Given the description of an element on the screen output the (x, y) to click on. 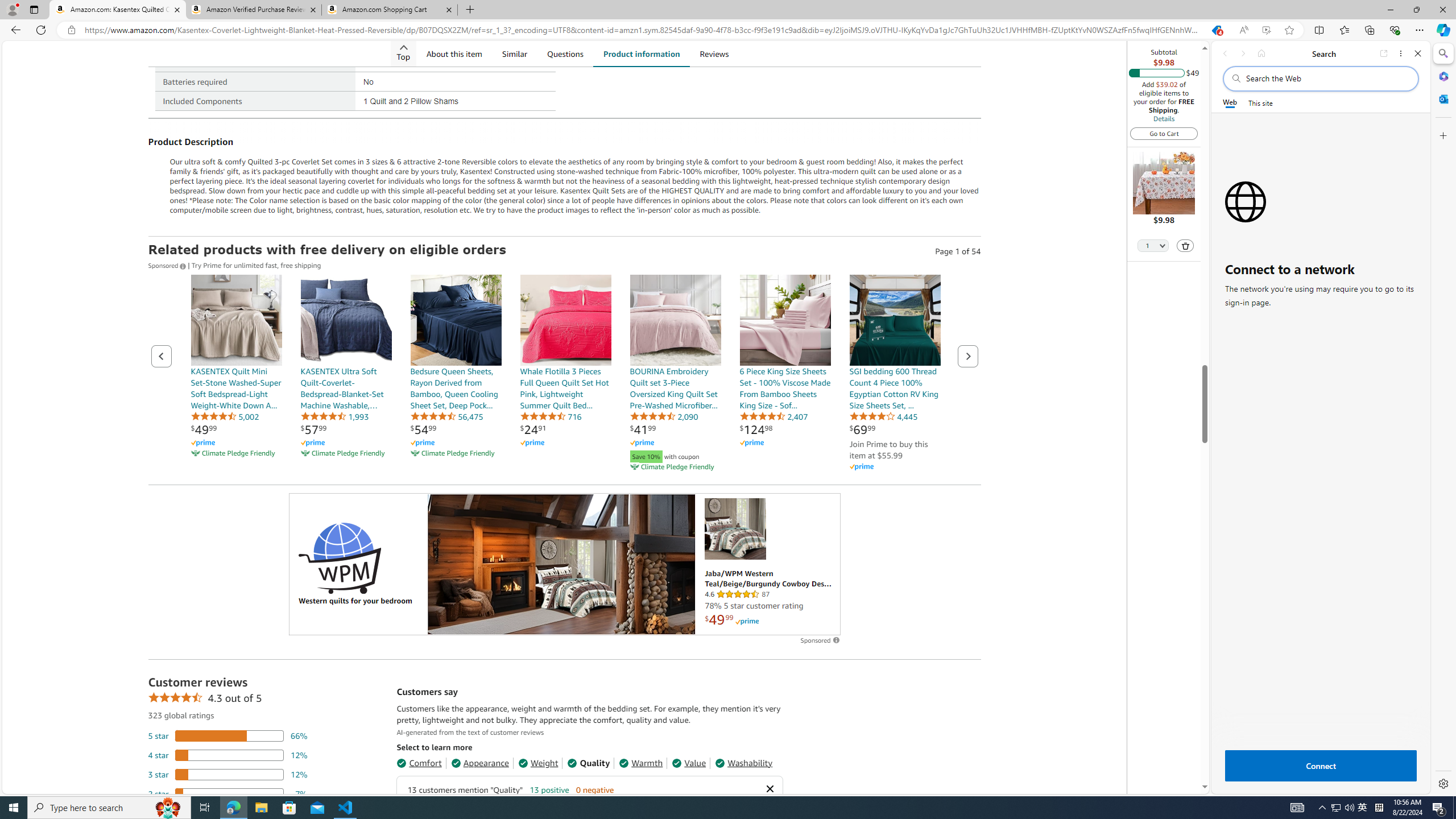
Reviews (713, 53)
Sponsored  (167, 264)
Connect (1320, 765)
Value (688, 762)
5,002 (224, 416)
$54.99 (423, 429)
2,407$124.98 (785, 373)
$41.99 (642, 429)
